Given the description of an element on the screen output the (x, y) to click on. 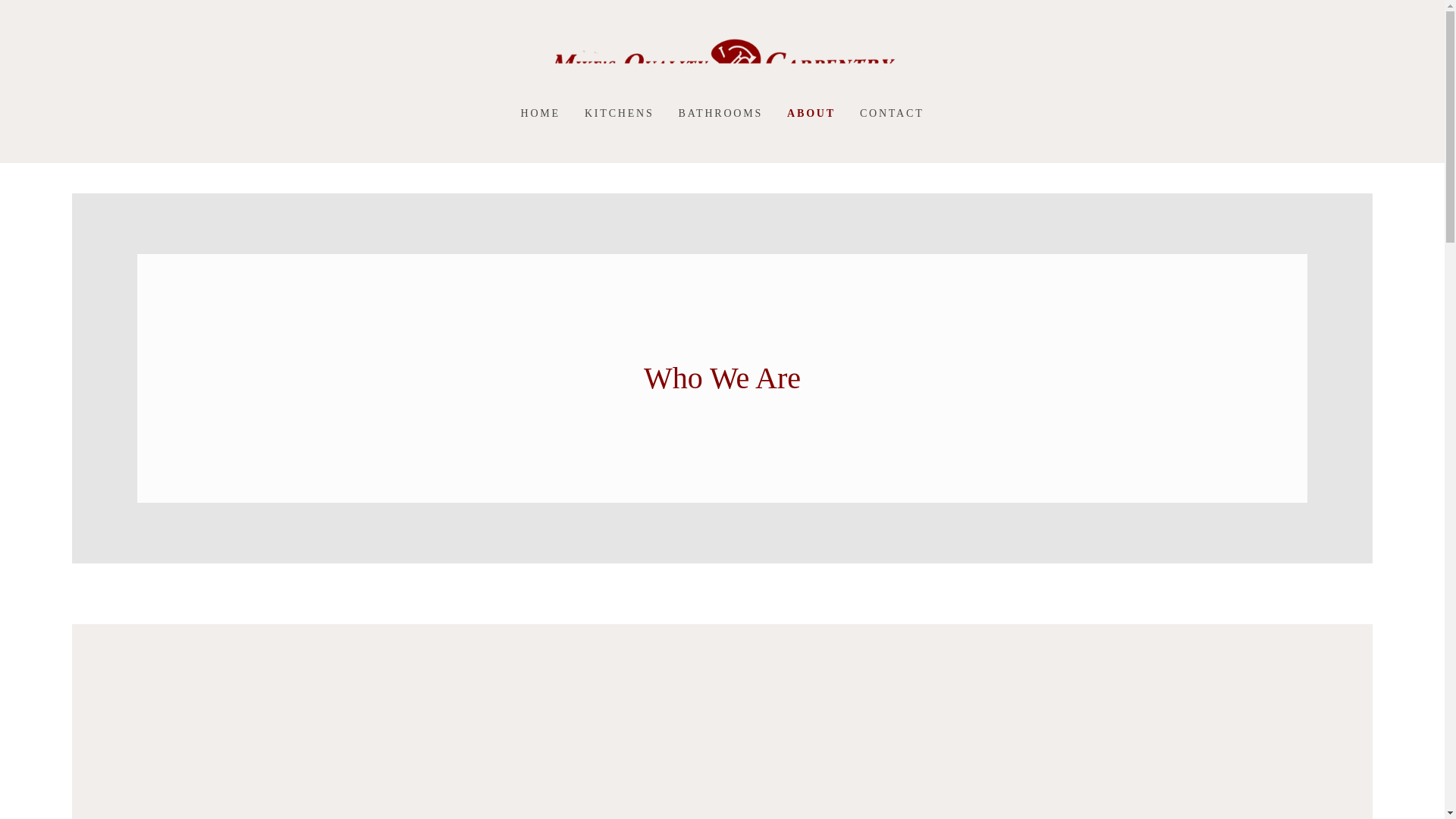
Skip to main content (12, 12)
ABOUT (810, 113)
CONTACT (891, 113)
BATHROOMS (721, 113)
HOME (540, 113)
KITCHENS (619, 113)
